Given the description of an element on the screen output the (x, y) to click on. 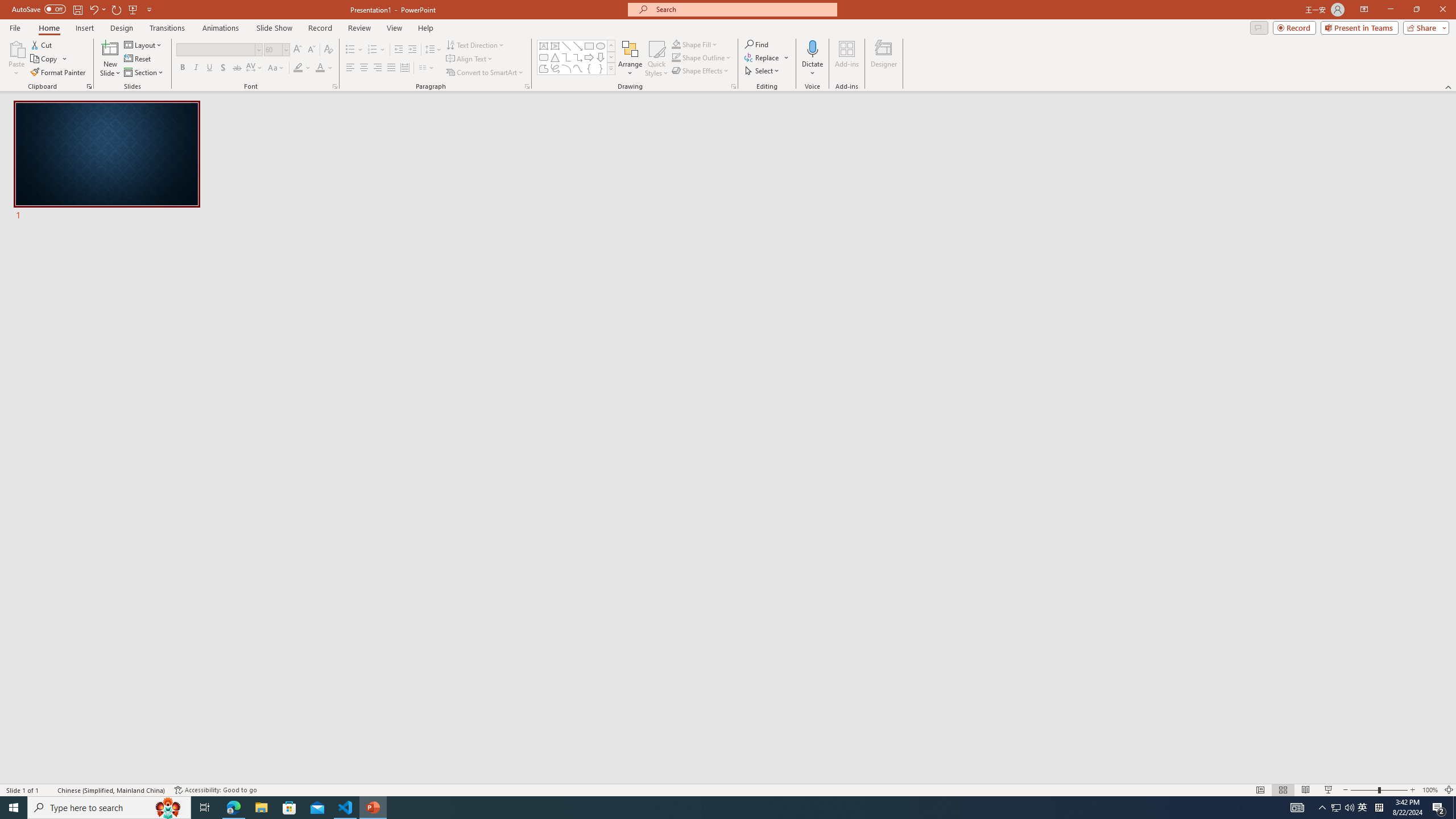
Spell Check  (49, 790)
